Given the description of an element on the screen output the (x, y) to click on. 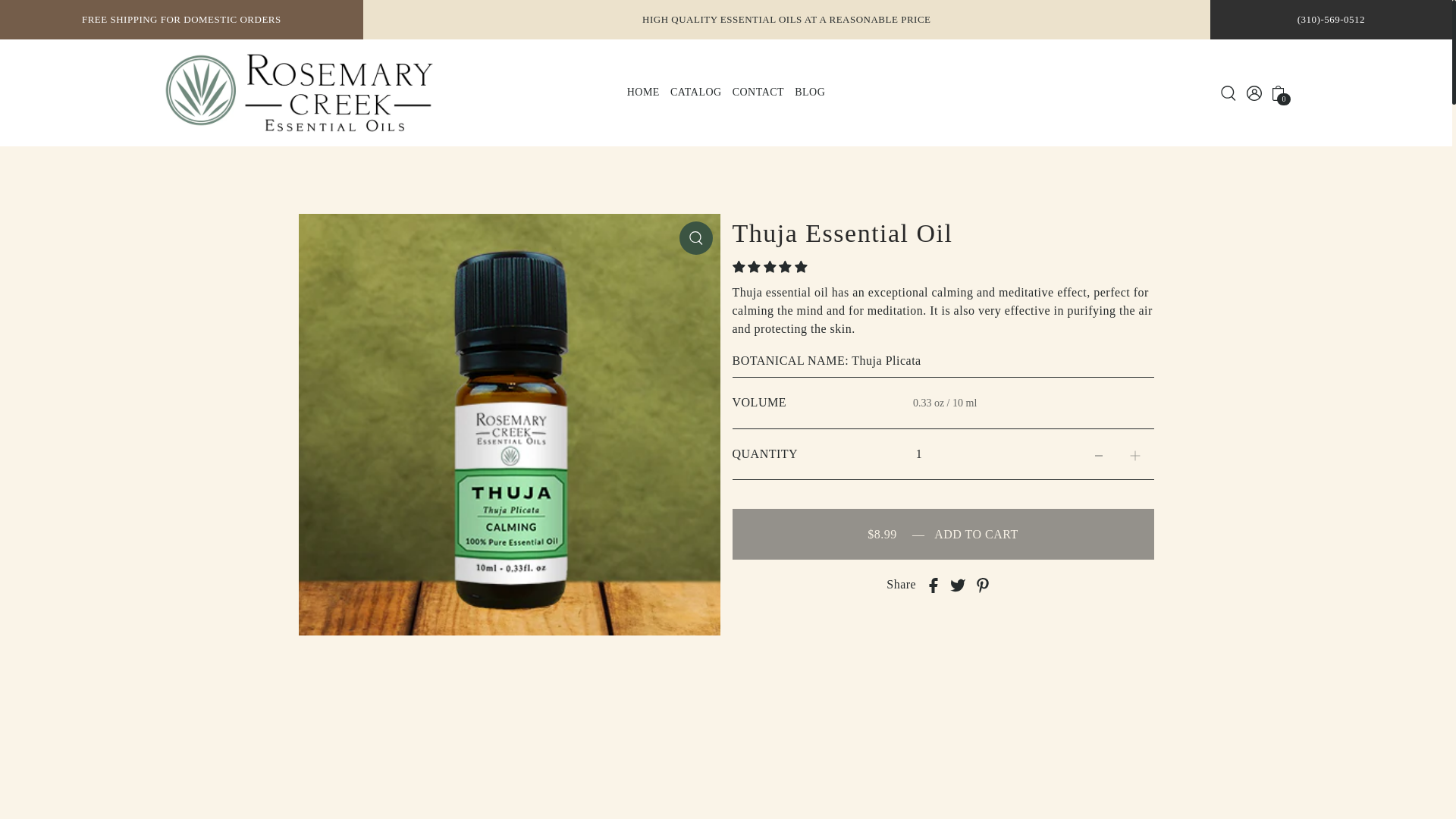
CONTACT (757, 92)
click to zoom-in (696, 237)
CATALOG (695, 92)
1 (919, 454)
BLOG (809, 92)
HOME (643, 92)
